Given the description of an element on the screen output the (x, y) to click on. 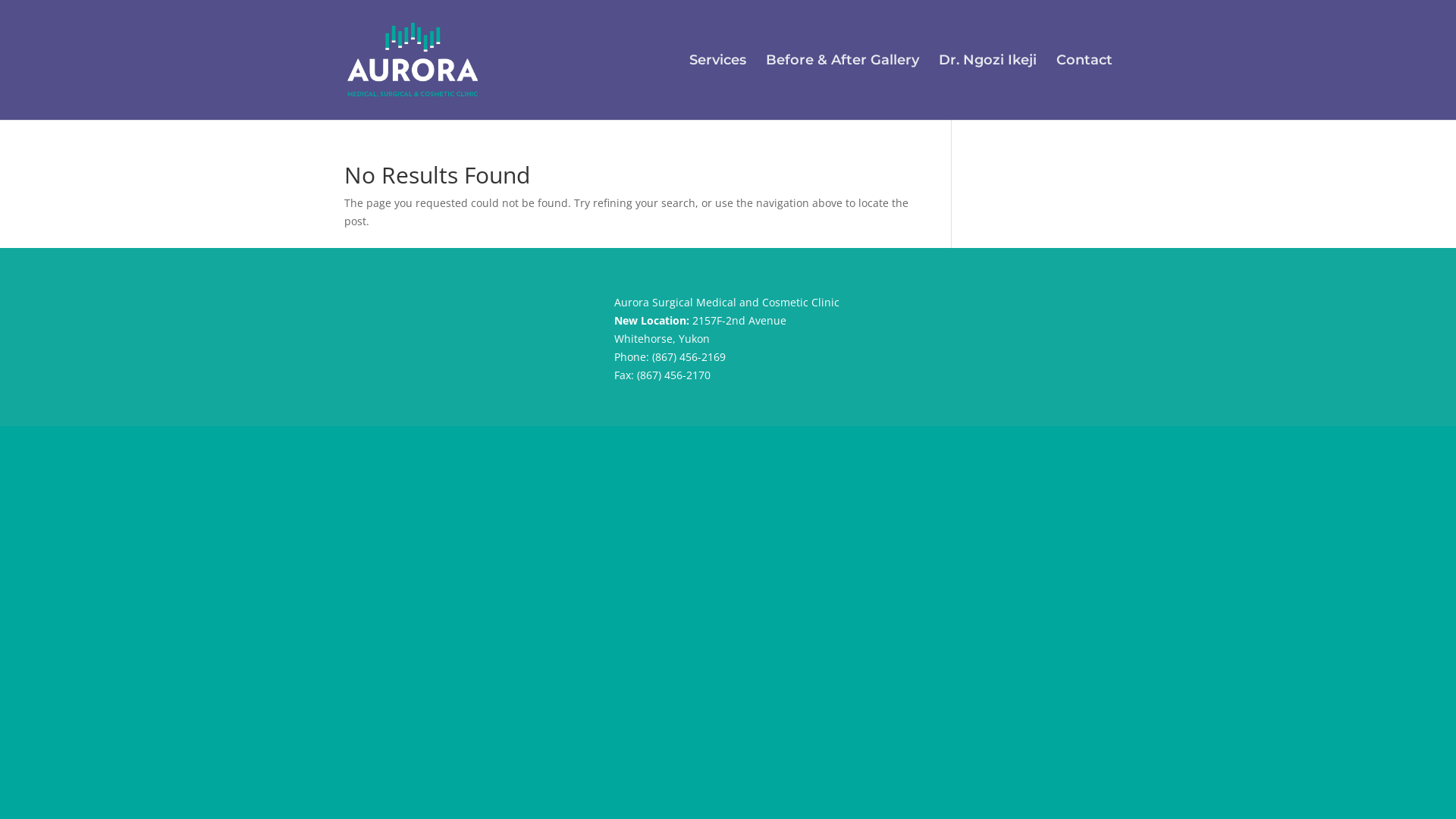
Dr. Ngozi Ikeji Element type: text (987, 86)
Contact Element type: text (1083, 86)
Before & After Gallery Element type: text (842, 86)
Services Element type: text (716, 86)
